Given the description of an element on the screen output the (x, y) to click on. 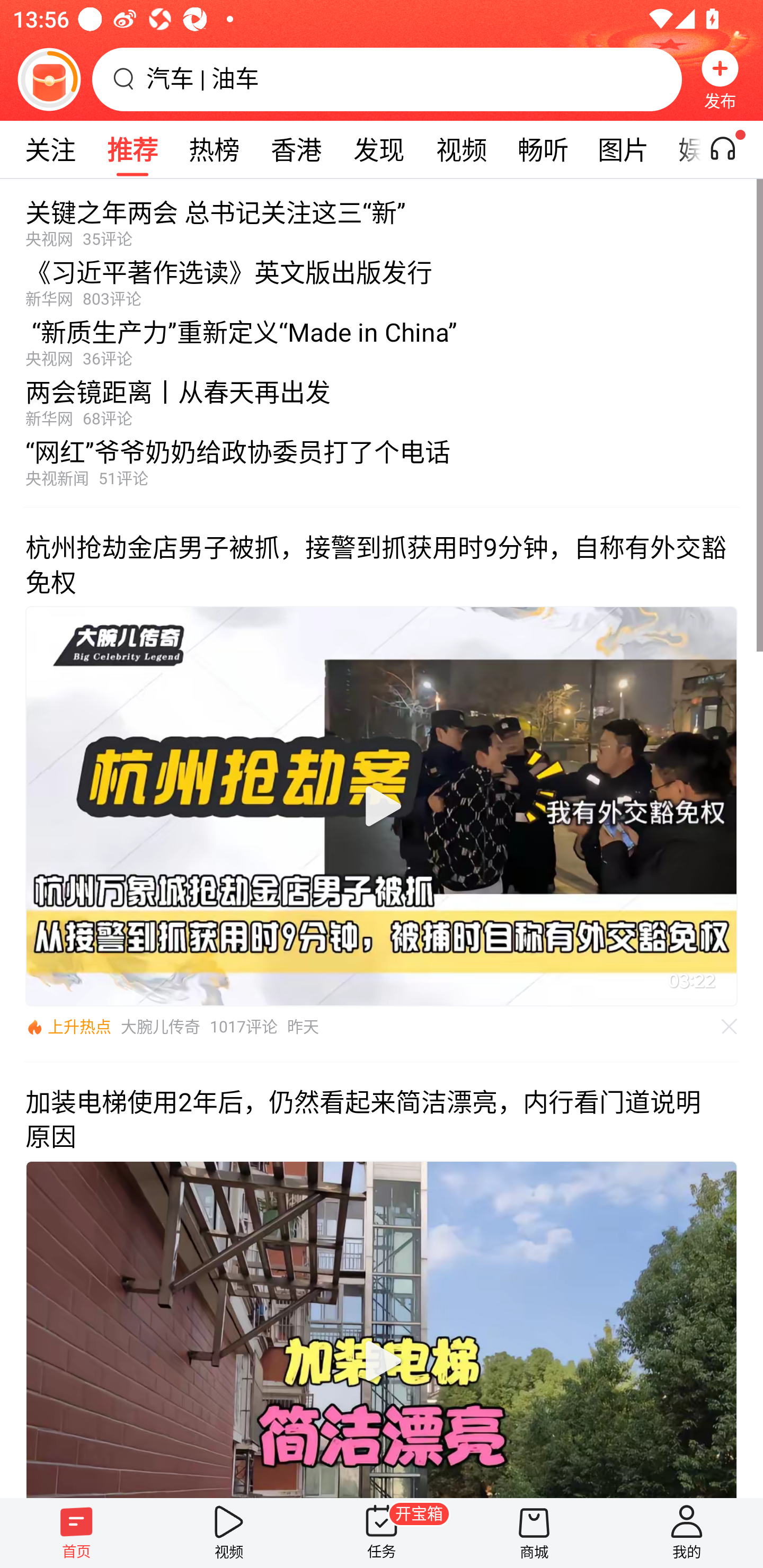
阅读赚金币 (48, 79)
汽车 | 油车 搜索框，汽车 | 油车 (387, 79)
发布 发布，按钮 (720, 78)
关注 (50, 149)
推荐 (132, 149)
热榜 (213, 149)
香港 (295, 149)
发现 (378, 149)
视频 (461, 149)
畅听 (542, 149)
图片 (623, 149)
听一听开关 (732, 149)
两会镜距离丨从春天再出发新华网68评论 文章 两会镜距离丨从春天再出发 新华网68评论 (381, 398)
播放视频 视频播放器，双击屏幕打开播放控制 (381, 805)
播放视频 (381, 806)
不感兴趣 (729, 1026)
播放视频 视频播放器，双击屏幕打开播放控制 (381, 1328)
播放视频 (381, 1360)
首页 (76, 1532)
视频 (228, 1532)
任务 开宝箱 (381, 1532)
商城 (533, 1532)
我的 (686, 1532)
